Given the description of an element on the screen output the (x, y) to click on. 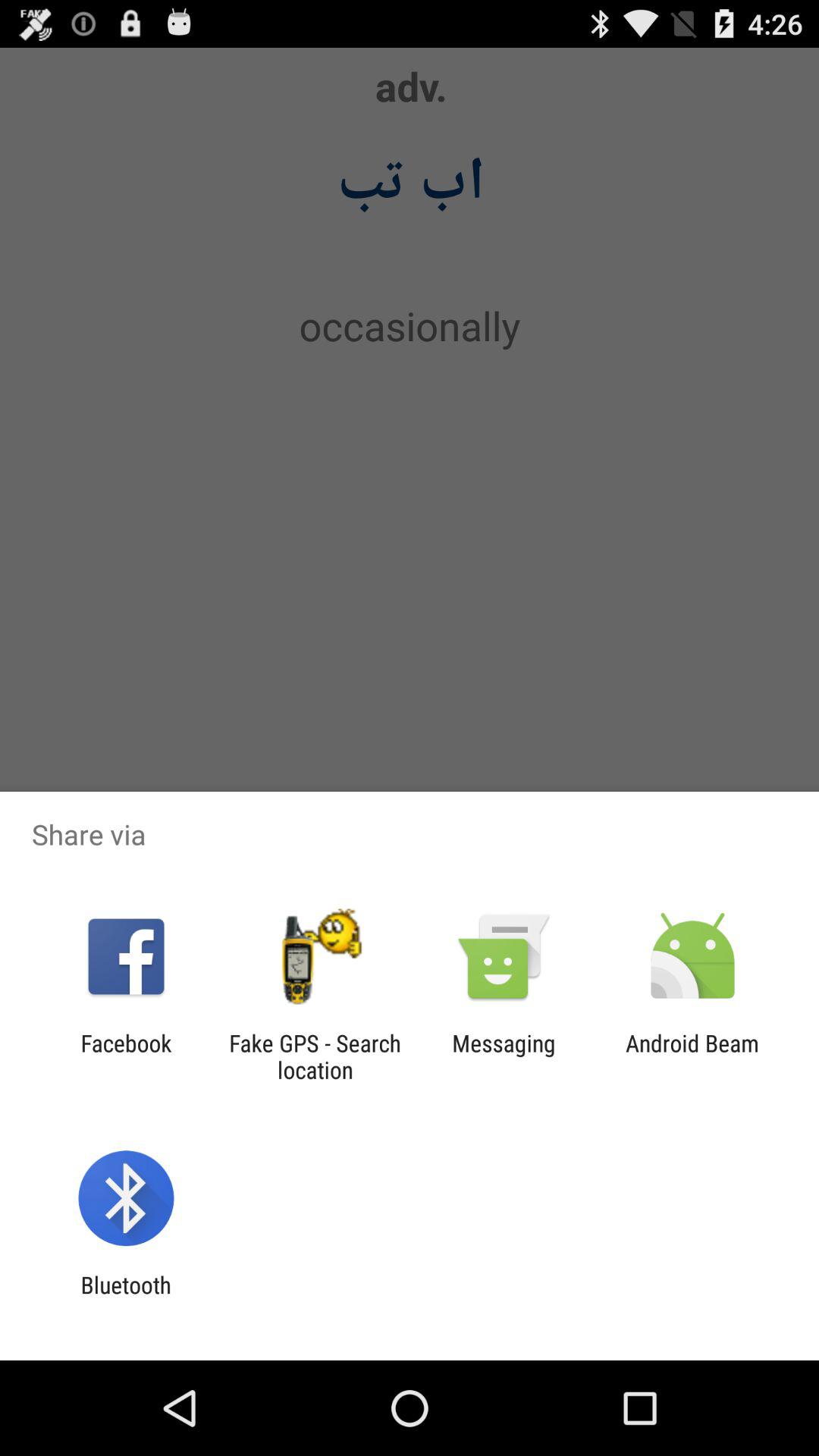
turn off the facebook (125, 1056)
